Given the description of an element on the screen output the (x, y) to click on. 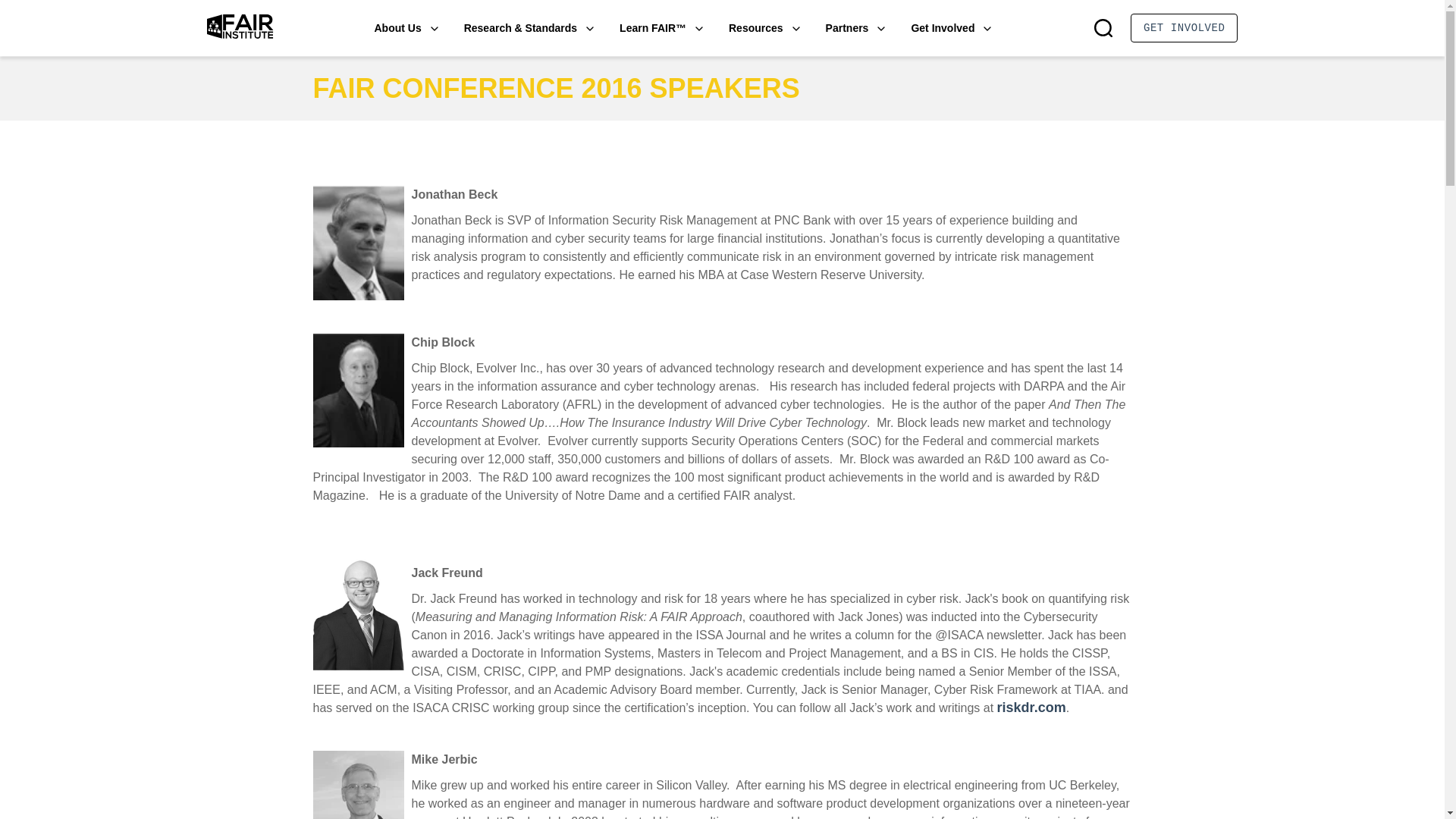
Resources (765, 27)
Partners (855, 27)
About Us (406, 27)
Get Involved (951, 27)
